Given the description of an element on the screen output the (x, y) to click on. 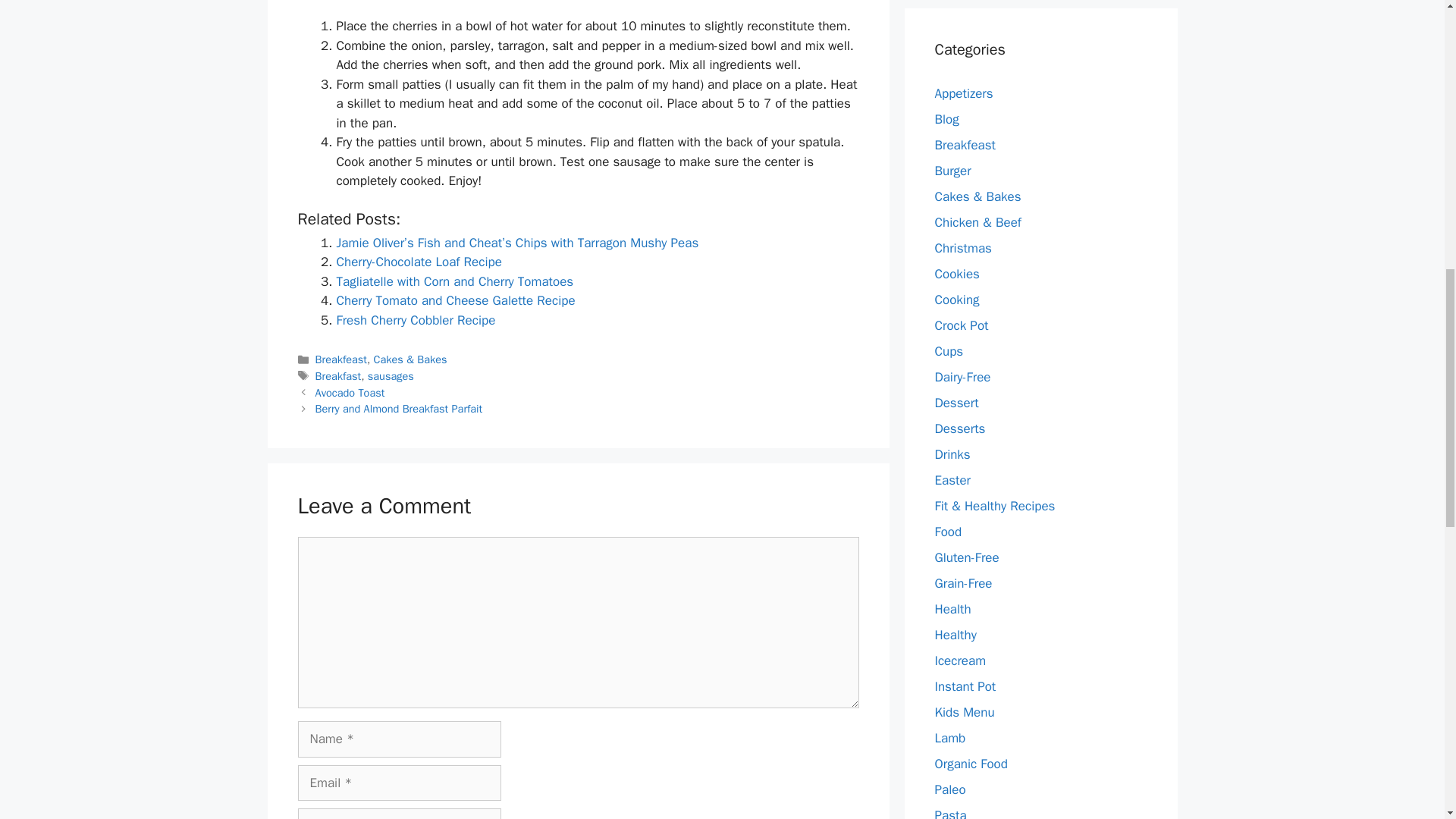
Avocado Toast (350, 392)
Fresh Cherry Cobbler Recipe (416, 320)
Cherry-Chocolate Loaf Recipe (419, 261)
Breakfast (338, 376)
Breakfeast (340, 359)
Cherry-Chocolate Loaf Recipe (419, 261)
Cherry Tomato and Cheese Galette Recipe (455, 300)
Tagliatelle with Corn and Cherry Tomatoes (454, 281)
Cherry Tomato and Cheese Galette Recipe (455, 300)
Berry and Almond Breakfast Parfait (399, 408)
sausages (390, 376)
Tagliatelle with Corn and Cherry Tomatoes (454, 281)
